Given the description of an element on the screen output the (x, y) to click on. 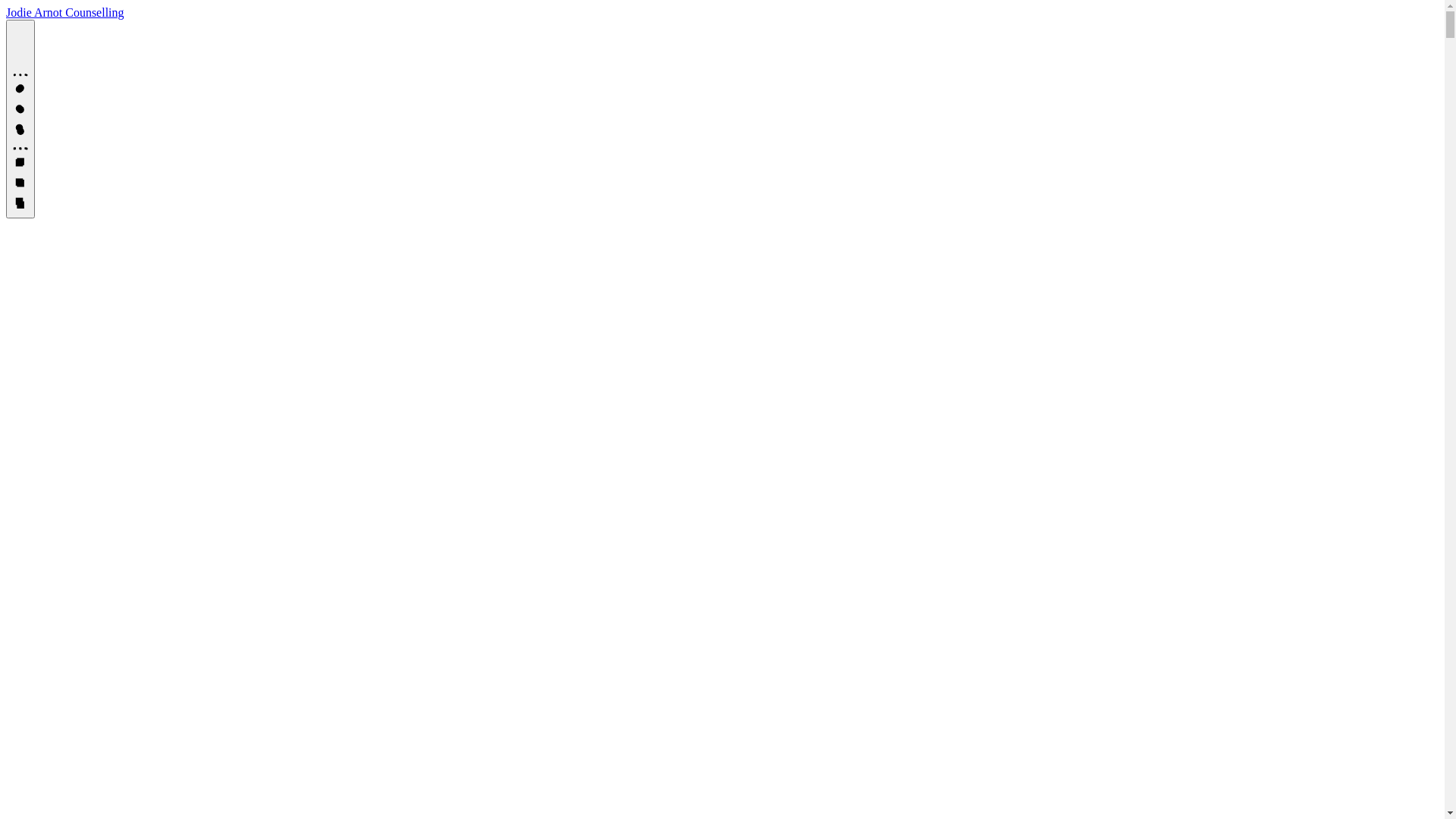
Jodie Arnot Counselling Element type: text (65, 12)
